Given the description of an element on the screen output the (x, y) to click on. 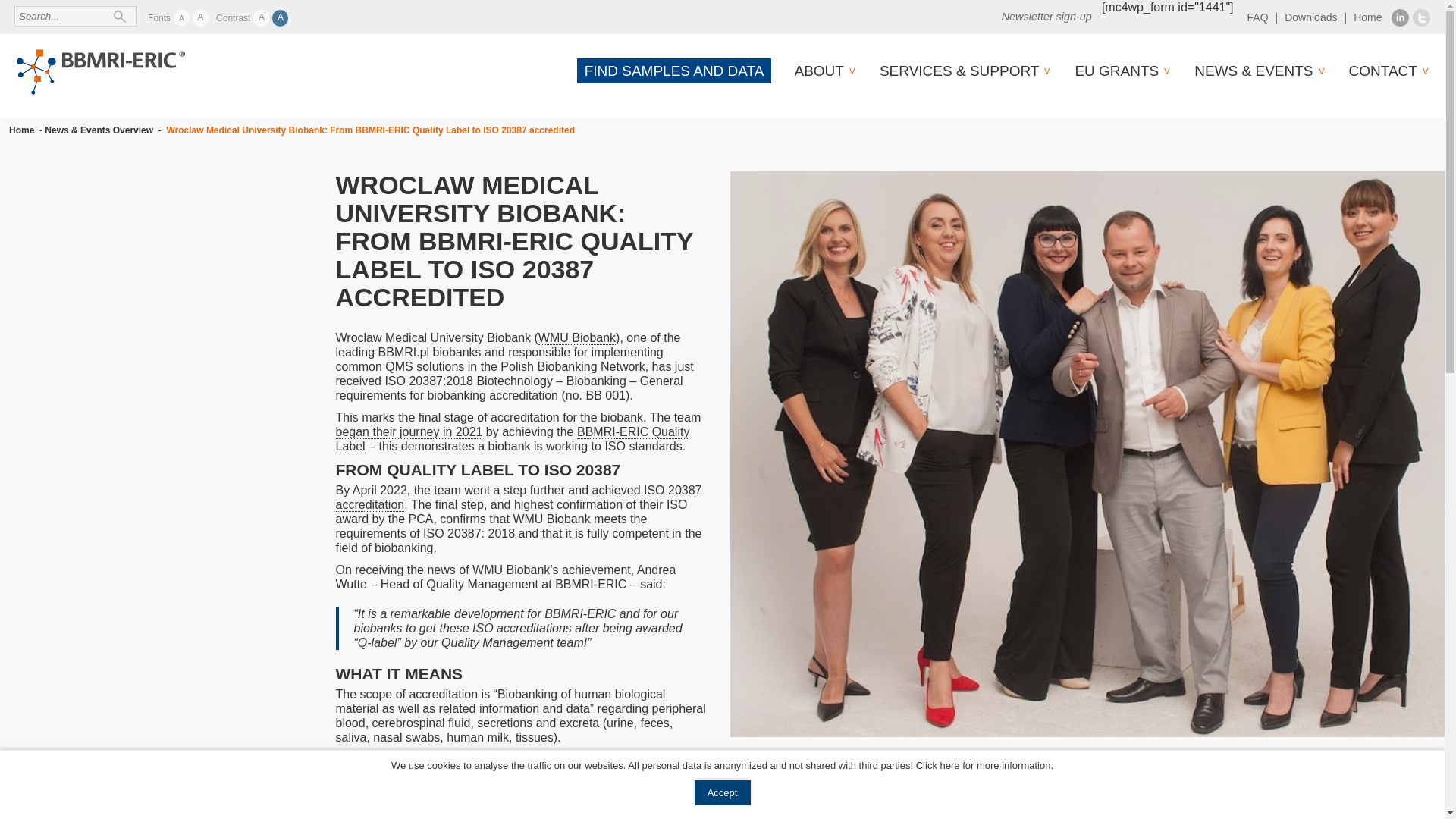
FAQ (1257, 17)
FIND SAMPLES AND DATA (673, 70)
Downloads (1310, 17)
EU GRANTS (1116, 70)
Home (1367, 17)
ABOUT (818, 70)
